Given the description of an element on the screen output the (x, y) to click on. 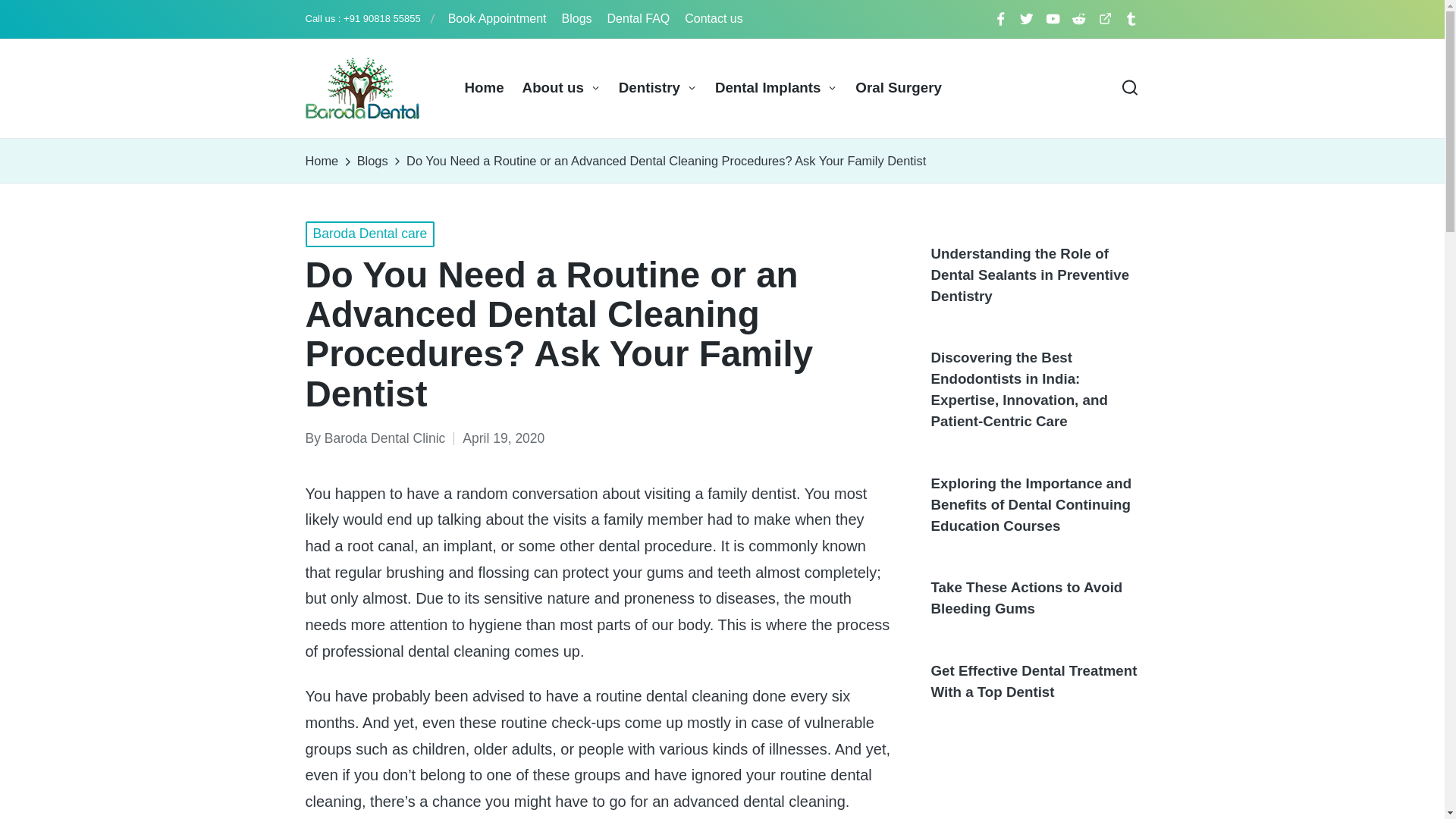
Dentistry (657, 87)
Menu Item (1131, 18)
Dental Implants (775, 87)
Contact us (713, 18)
Blogs (577, 18)
Menu Item (1104, 18)
Menu Item (1078, 18)
Menu Item (1026, 18)
Book Appointment (497, 18)
Home (483, 87)
View all posts by Baroda Dental Clinic (384, 437)
Dental FAQ (638, 18)
Menu Item (1000, 18)
About us (560, 87)
Menu Item (1053, 18)
